Given the description of an element on the screen output the (x, y) to click on. 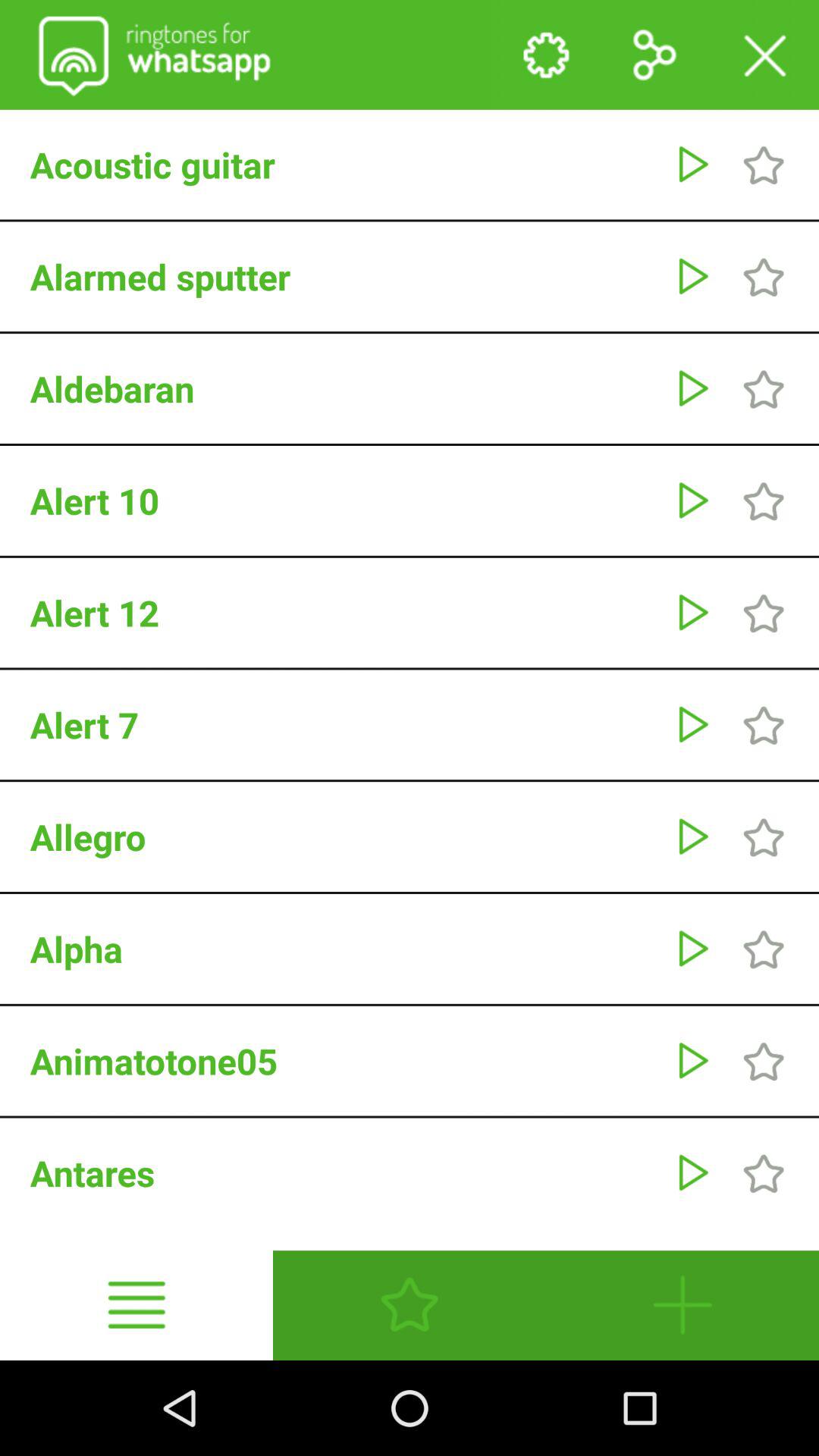
jump until the alert 7 item (344, 724)
